Given the description of an element on the screen output the (x, y) to click on. 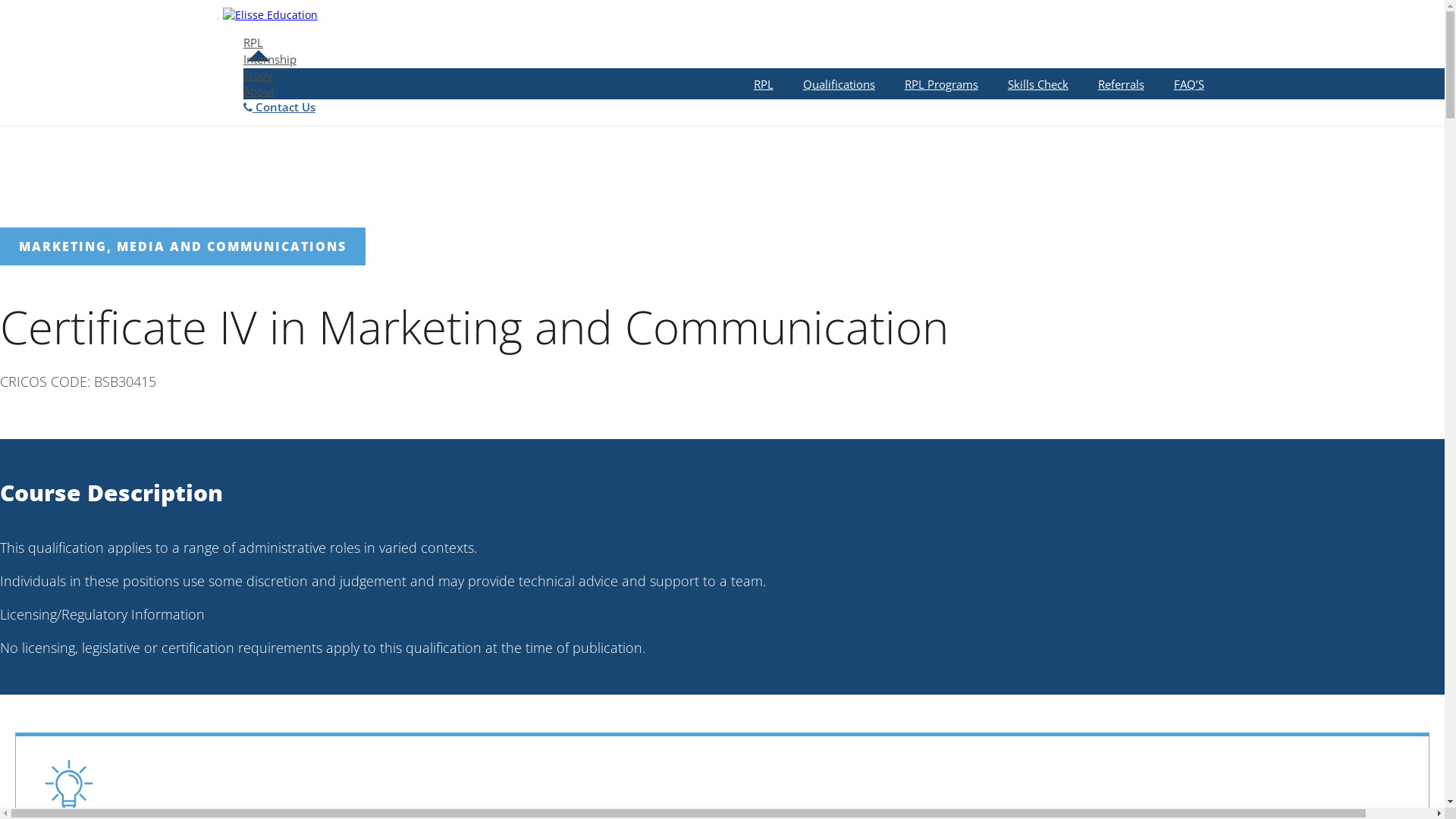
Skills Check Element type: text (1037, 83)
RPL Programs Element type: text (941, 83)
Elisse Education Element type: hover (269, 10)
About Element type: text (258, 90)
RPL Element type: text (253, 42)
Qualifications Element type: text (839, 83)
Study Element type: text (258, 74)
Referrals Element type: text (1121, 83)
Internship Element type: text (269, 58)
RPL Element type: text (763, 83)
Contact Us Element type: text (279, 106)
